Given the description of an element on the screen output the (x, y) to click on. 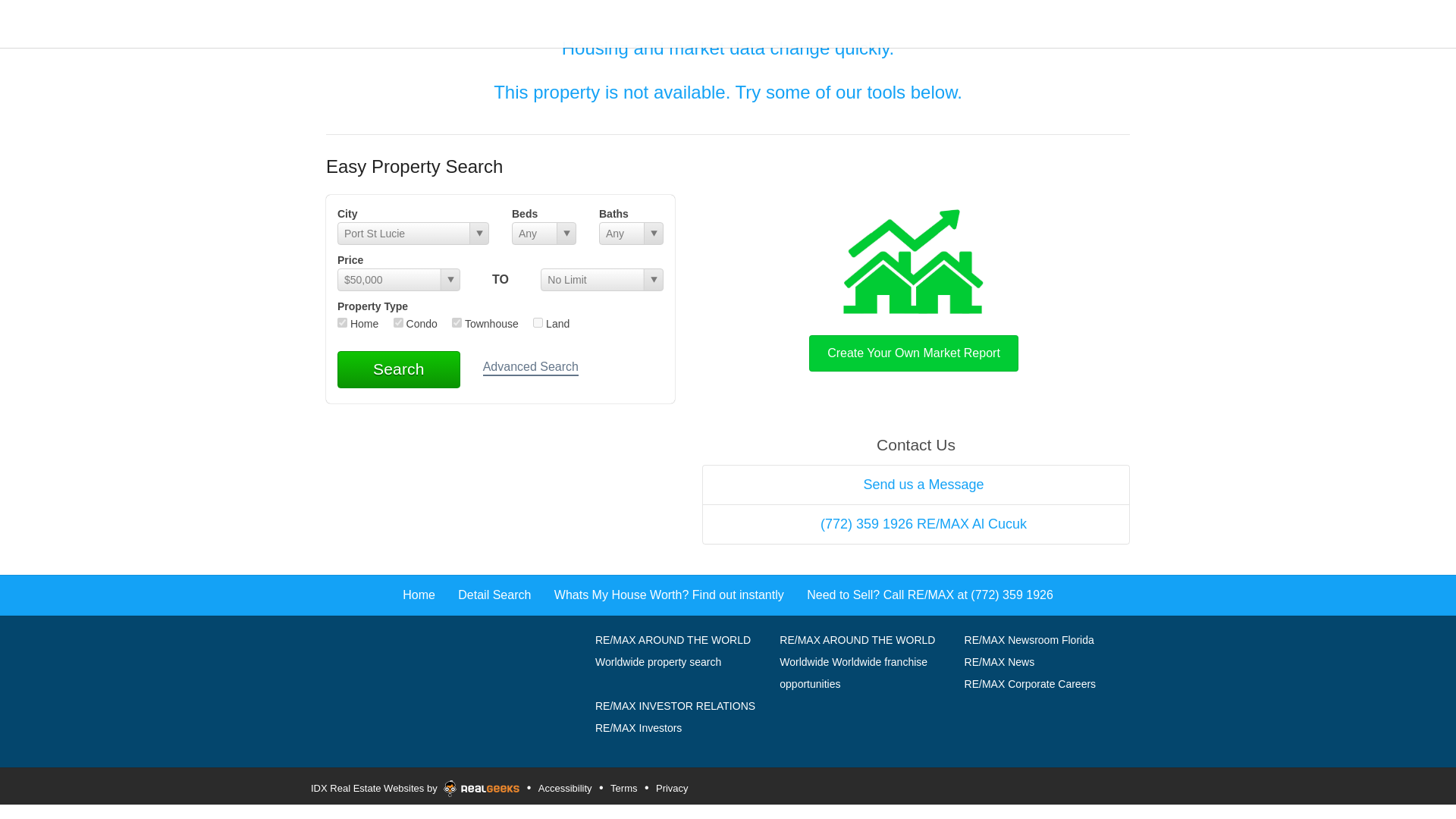
Accessibility (564, 788)
Send us a Message (915, 484)
IDX Real Estate Websites by (414, 785)
Search (398, 369)
Detail Search (494, 594)
lnd (537, 322)
res (342, 322)
Terms (623, 788)
twn (456, 322)
Create Your Own Market Report (913, 286)
Whats My House Worth? Find out instantly (669, 594)
Advanced Search (530, 367)
Privacy (672, 788)
Home (419, 594)
Search (398, 369)
